Given the description of an element on the screen output the (x, y) to click on. 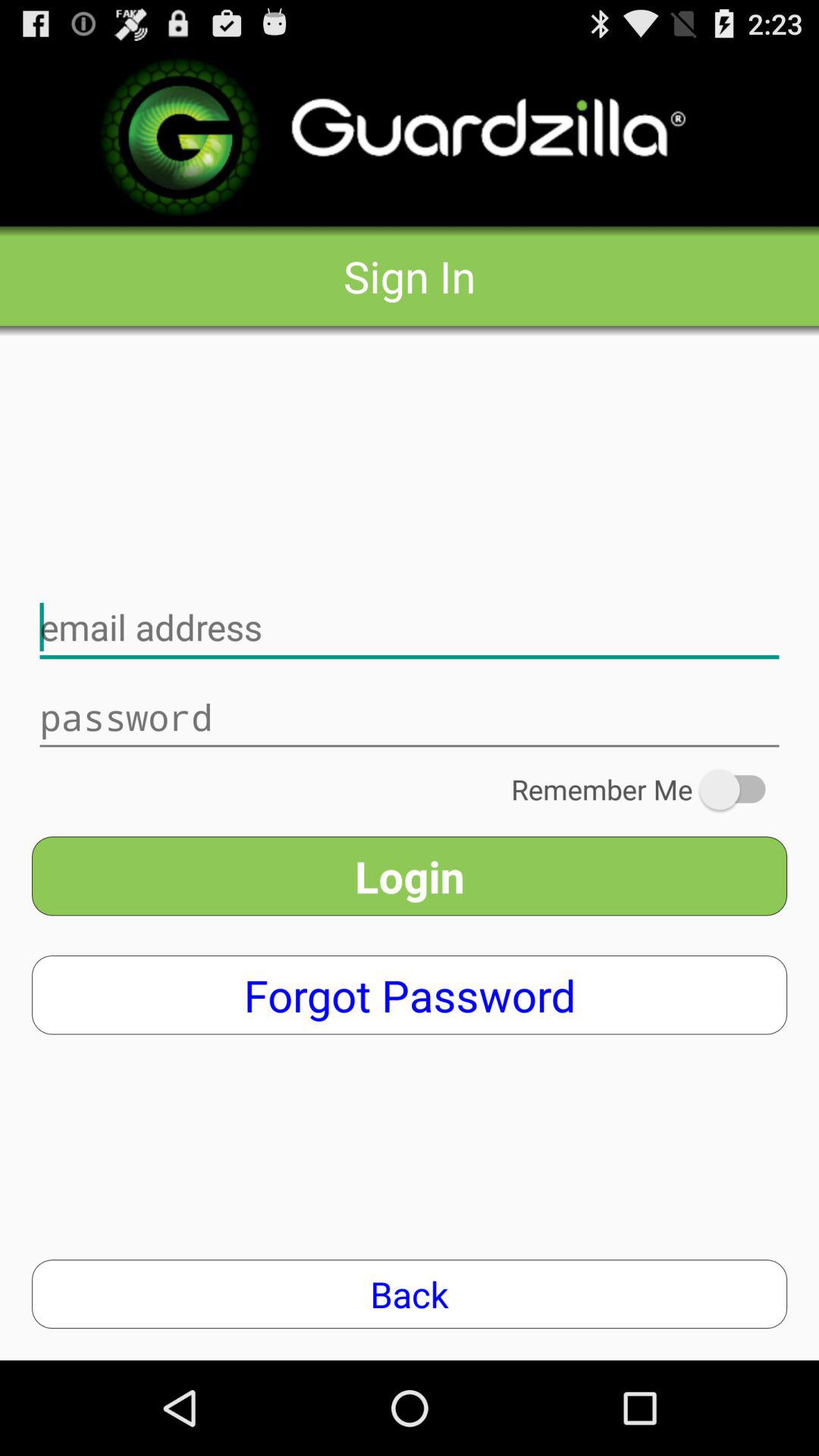
tap item above login app (649, 789)
